Given the description of an element on the screen output the (x, y) to click on. 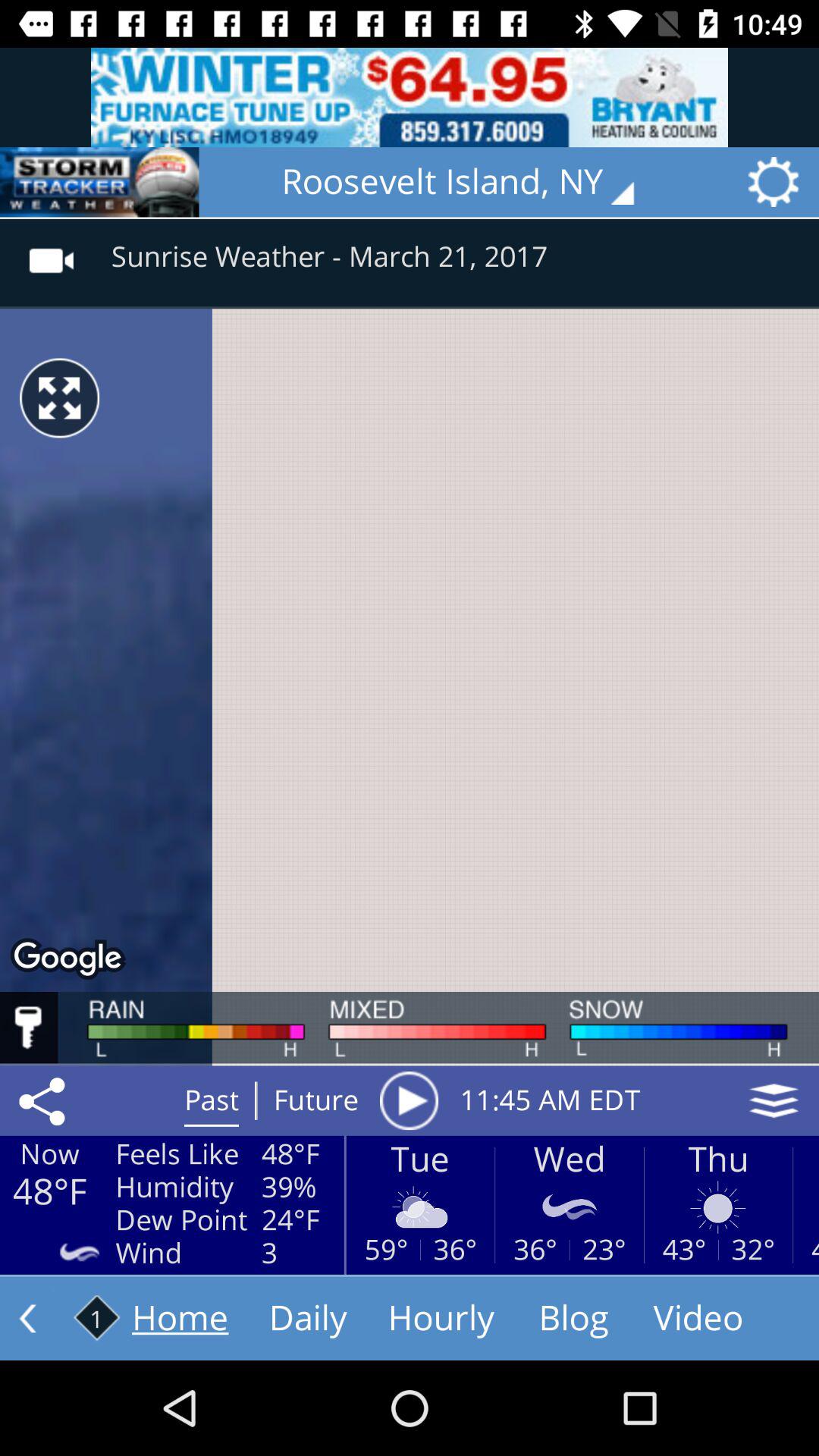
click on the video icon (51, 250)
choose the text next to home (307, 1318)
click play icon before 1145 am (409, 1100)
click on the video button at bottom right (698, 1318)
take the vertical line below thu weather symbol (718, 1250)
